Given the description of an element on the screen output the (x, y) to click on. 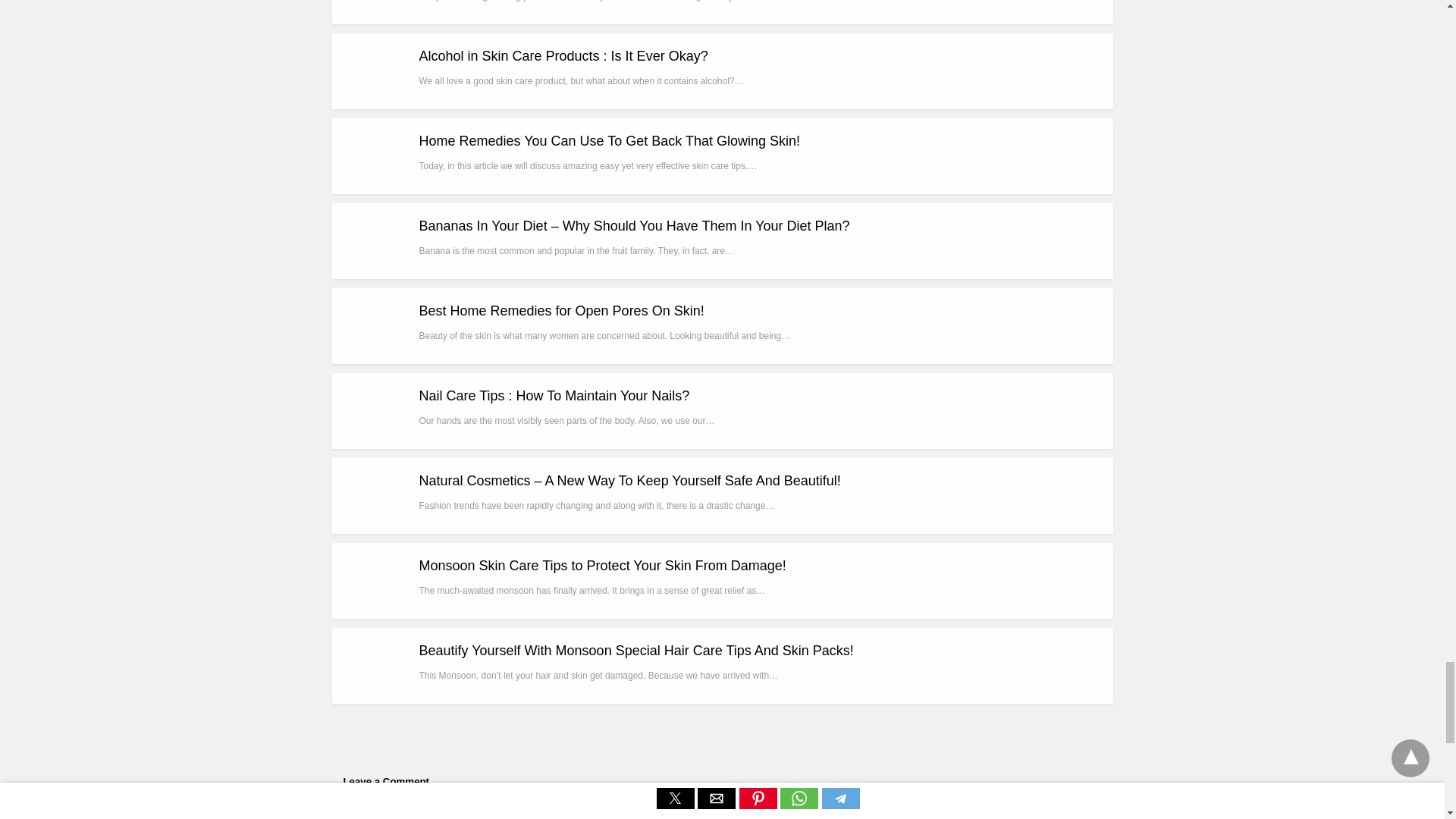
Best Home Remedies for Open Pores On Skin! (561, 310)
Alcohol in Skin Care Products : Is It Ever Okay? (563, 55)
Monsoon Skin Care Tips to Protect Your Skin From Damage! (602, 565)
Nail Care Tips : How To Maintain Your Nails? (553, 395)
Nail Care Tips : How To Maintain Your Nails? (553, 395)
Alcohol in Skin Care Products : Is It Ever Okay? (563, 55)
Home Remedies You Can Use To Get Back That Glowing Skin! (609, 140)
Home Remedies You Can Use To Get Back That Glowing Skin! (609, 140)
Best Home Remedies for Open Pores On Skin! (561, 310)
